Given the description of an element on the screen output the (x, y) to click on. 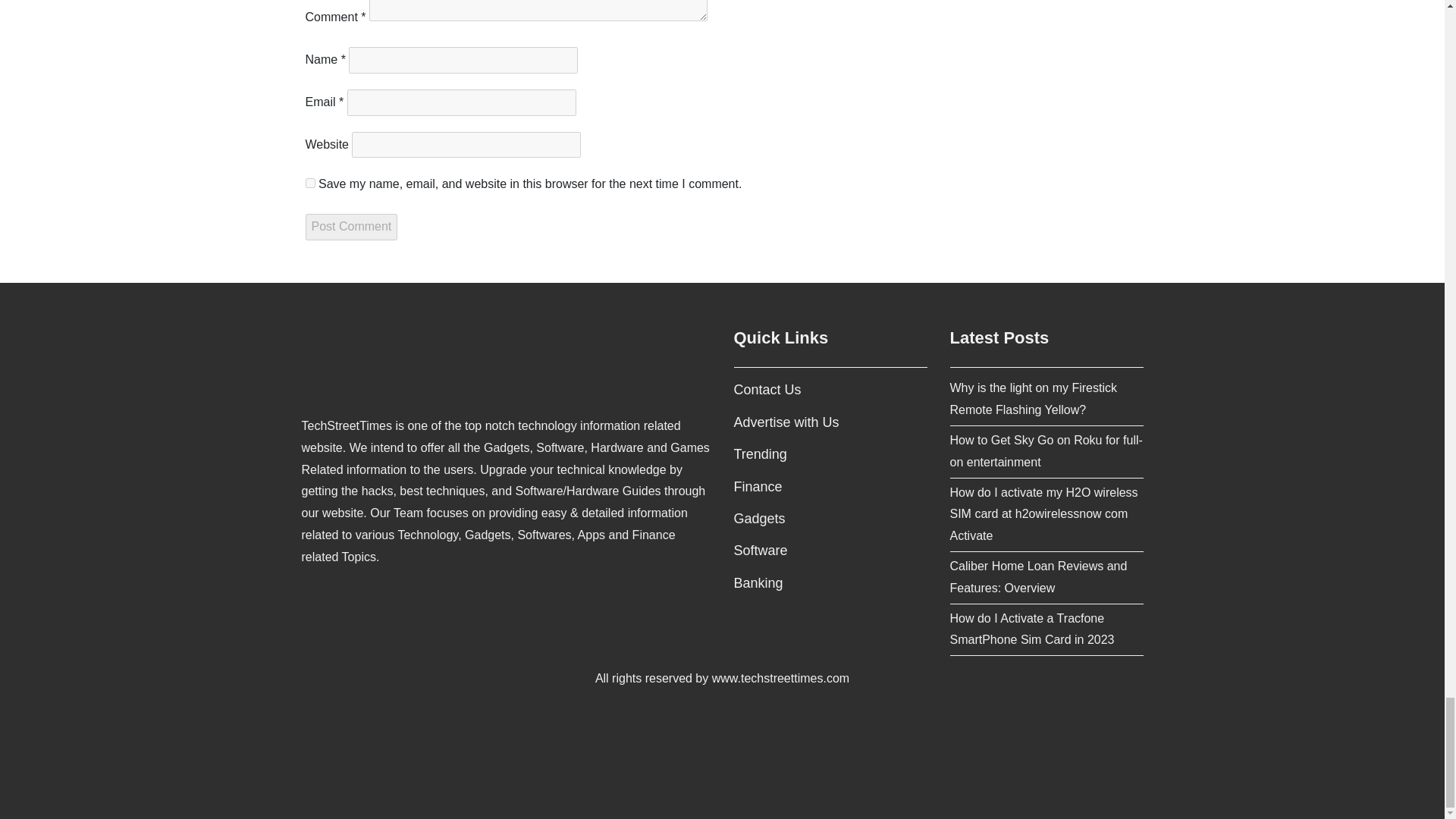
DMCA.com Protection Status (721, 757)
yes (309, 183)
Post Comment (350, 226)
Post Comment (350, 226)
Contact Us (767, 389)
